Given the description of an element on the screen output the (x, y) to click on. 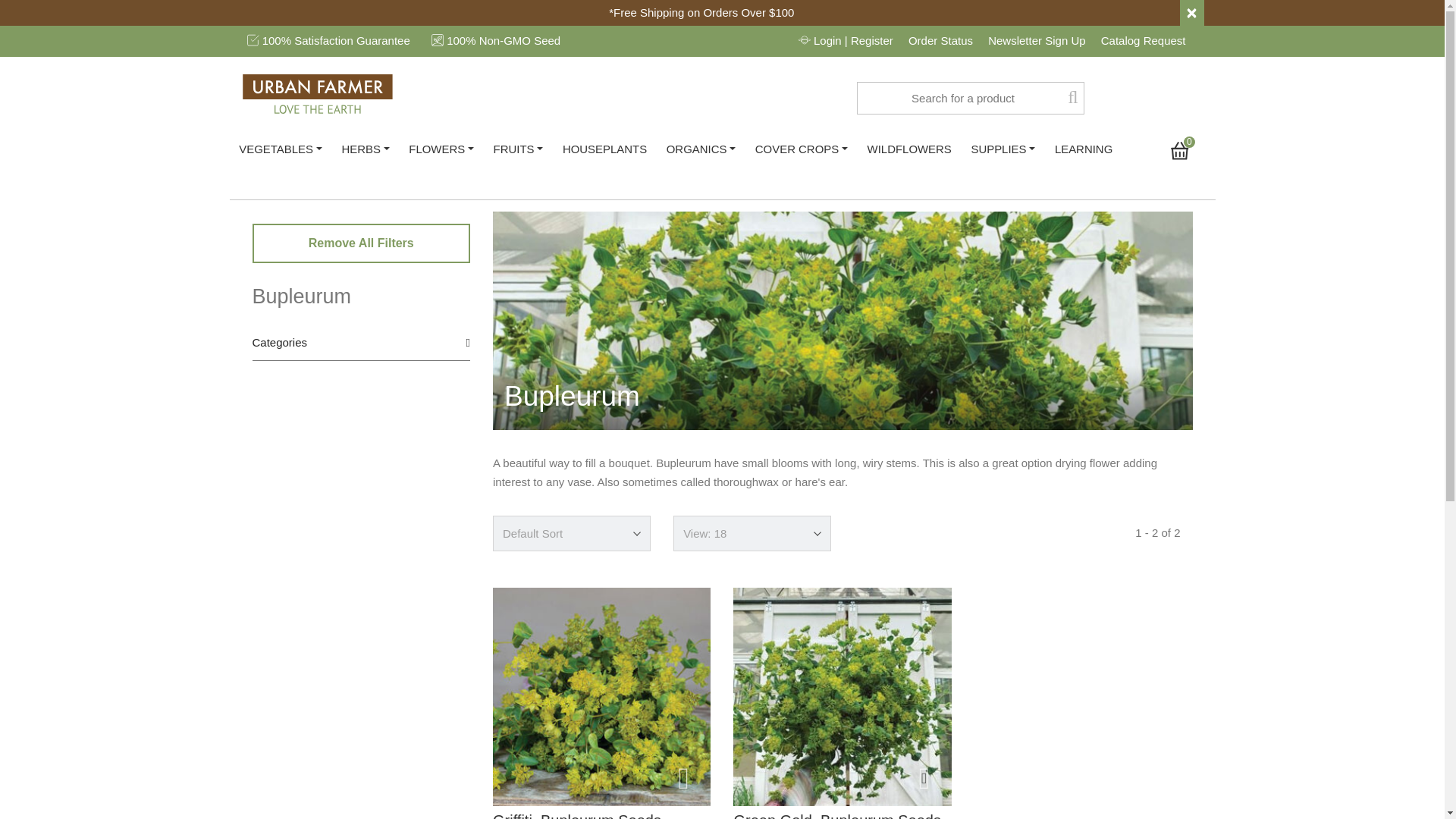
Urban Farmer Home (317, 93)
Griffiti, Bupleurum Seeds (601, 696)
Cart 0 Items (1187, 149)
Newsletter Sign Up (1042, 40)
Quick View for Griffiti, Bupleurum Seeds (683, 778)
Order Status (946, 40)
Quick View for Green Gold, Bupleurum Seeds (923, 778)
Green Gold, Bupleurum Seeds (841, 696)
VEGETABLES (279, 149)
Catalog Request (1149, 40)
